Given the description of an element on the screen output the (x, y) to click on. 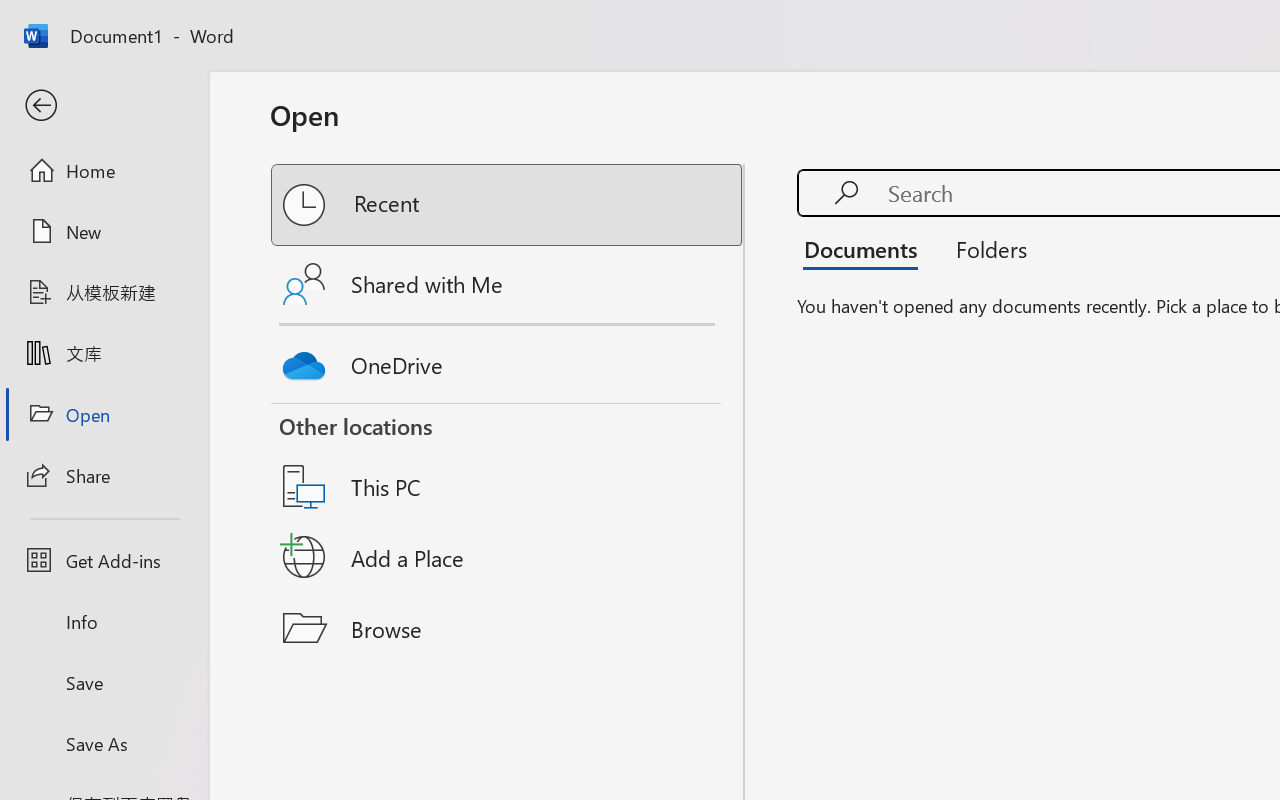
OneDrive (507, 359)
New (104, 231)
This PC (507, 461)
Save As (104, 743)
